Given the description of an element on the screen output the (x, y) to click on. 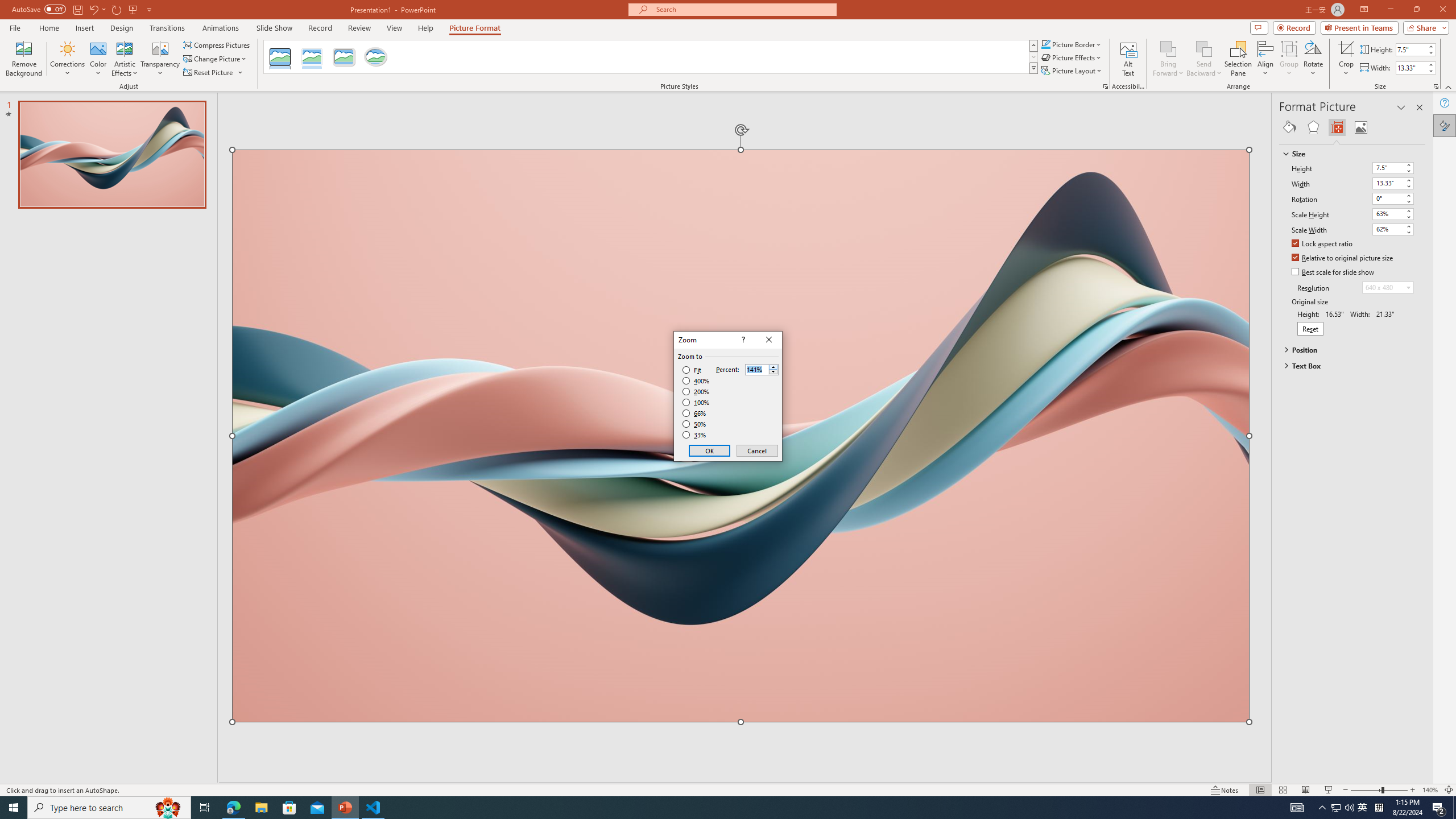
Corrections (67, 58)
Resolution (1387, 287)
Scale Width (1393, 229)
Reflected Bevel, Black (280, 56)
Scale Height (1393, 214)
Size and Position... (1435, 85)
Size (1347, 153)
